Given the description of an element on the screen output the (x, y) to click on. 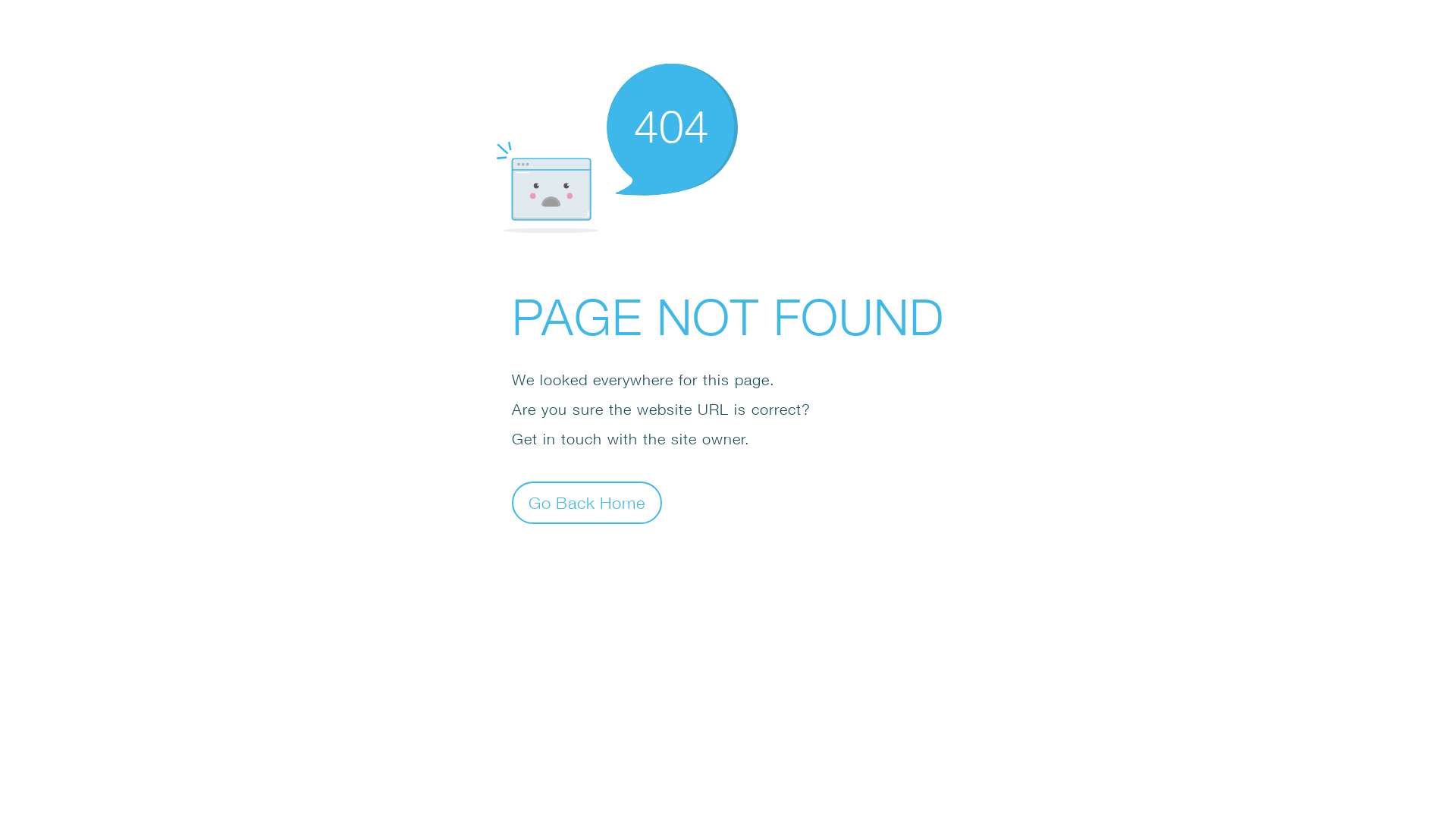
Go Back Home Element type: text (586, 502)
